Given the description of an element on the screen output the (x, y) to click on. 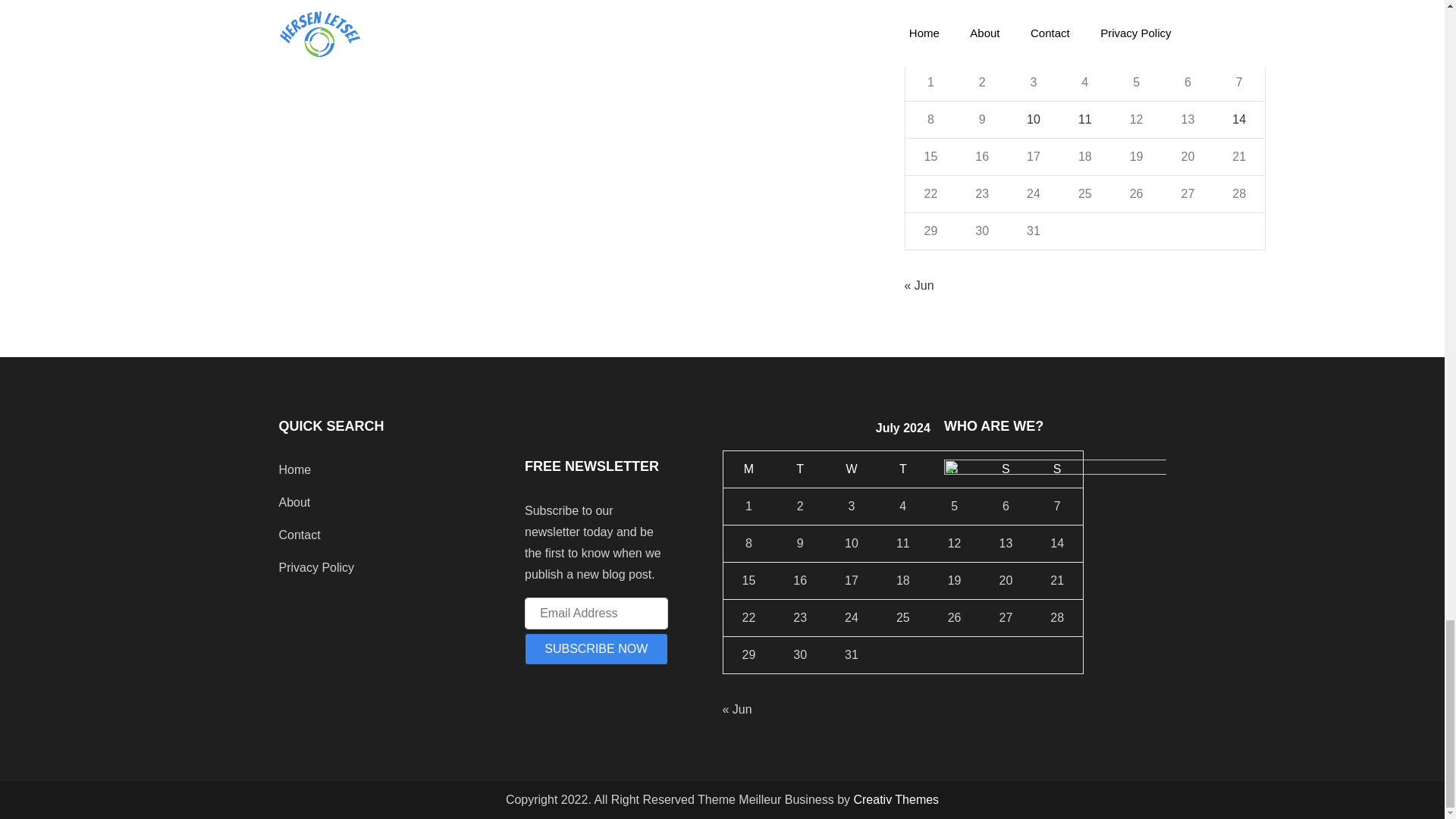
Friday (1135, 44)
SUBSCRIBE NOW (596, 649)
Tuesday (981, 44)
Saturday (1186, 44)
Thursday (1084, 44)
Monday (930, 44)
Sunday (1238, 44)
Wednesday (1033, 44)
